Given the description of an element on the screen output the (x, y) to click on. 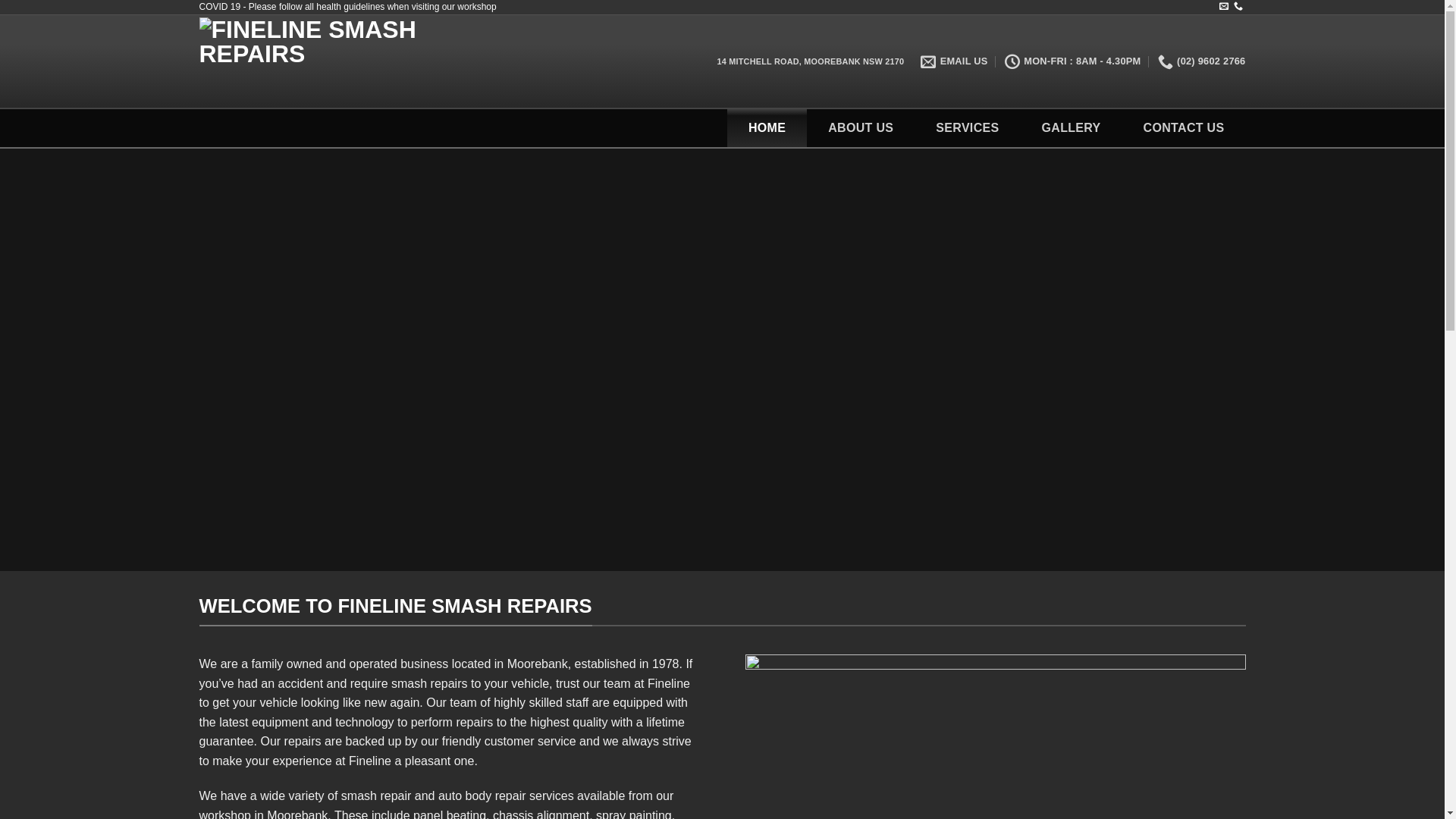
(02) 9602 2766 Element type: text (1201, 61)
Skip to content Element type: text (0, 0)
SERVICES Element type: text (966, 128)
HOME Element type: text (766, 128)
Fineline Smash Repairs - Mortdale Element type: hover (369, 61)
Send us an email Element type: hover (1223, 6)
14 MITCHELL ROAD, MOOREBANK NSW 2170 Element type: text (809, 61)
EMAIL US Element type: text (953, 61)
MON-FRI : 8AM - 4.30PM Element type: text (1072, 61)
CONTACT US Element type: text (1183, 128)
Call us Element type: hover (1237, 6)
GALLERY Element type: text (1071, 128)
ABOUT US Element type: text (860, 128)
